Given the description of an element on the screen output the (x, y) to click on. 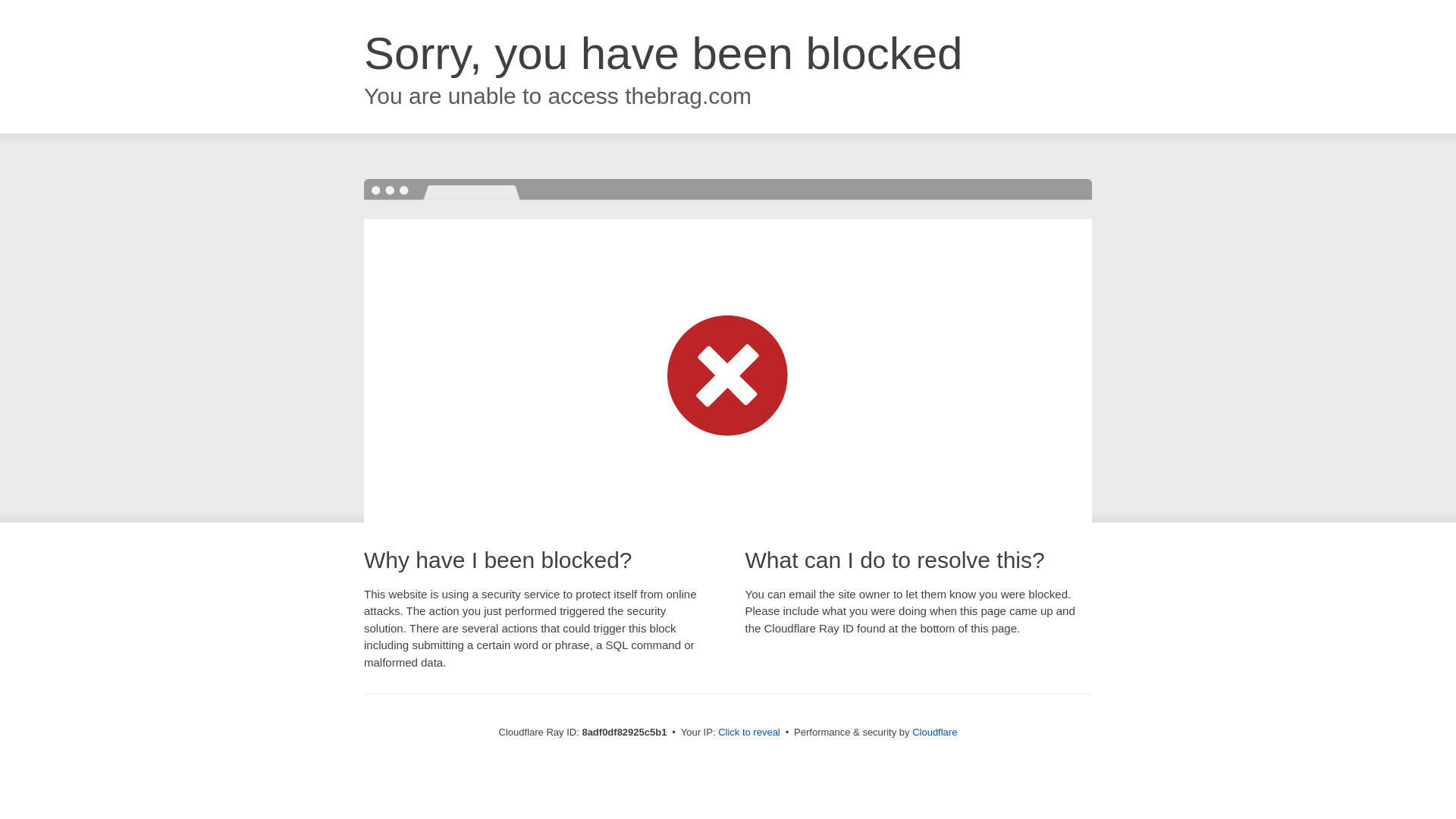
Click to reveal (748, 732)
Cloudflare (934, 731)
